Given the description of an element on the screen output the (x, y) to click on. 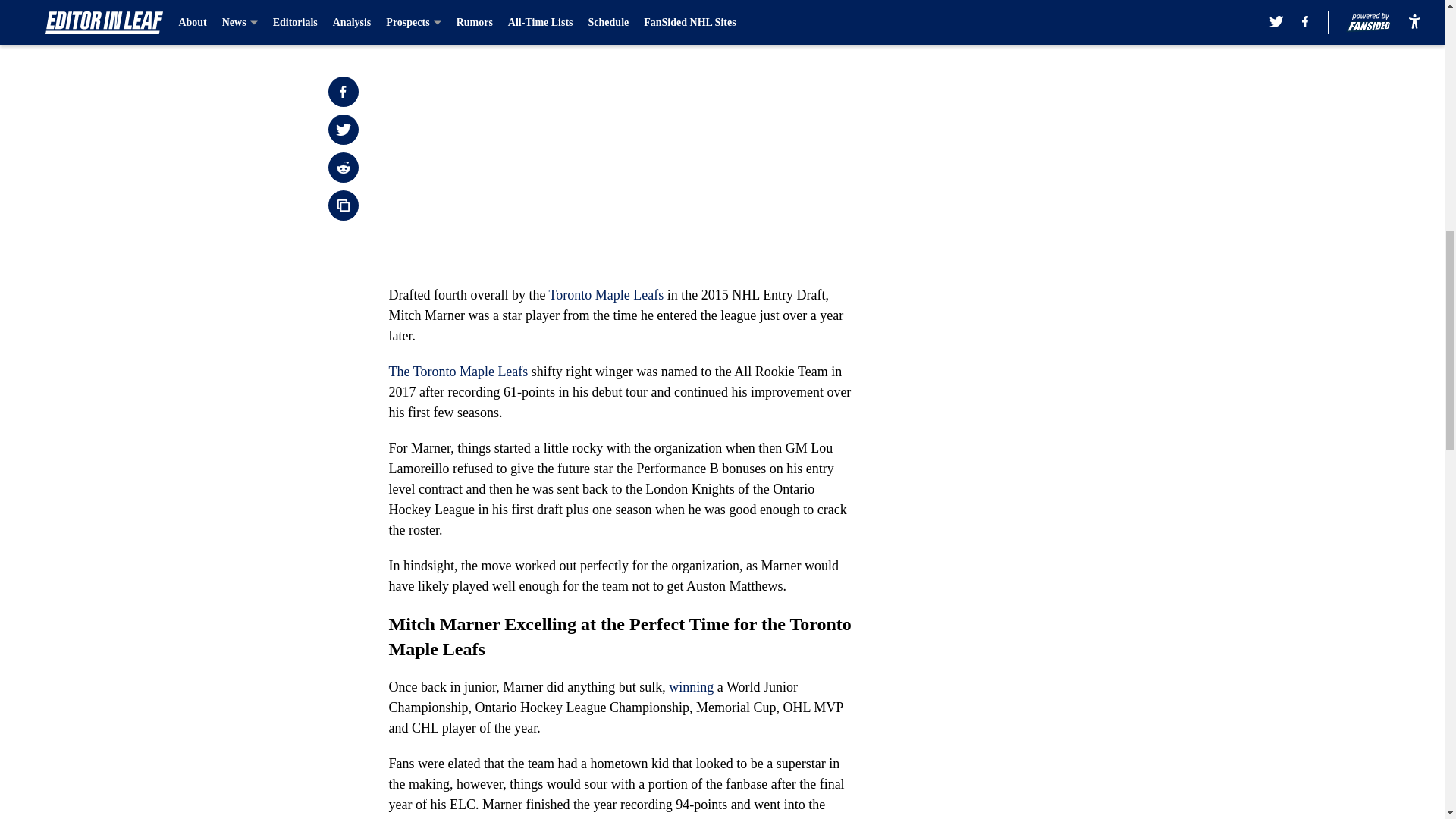
Toronto Maple Leafs (605, 294)
winning (690, 686)
The Toronto Maple Leafs (457, 371)
